Given the description of an element on the screen output the (x, y) to click on. 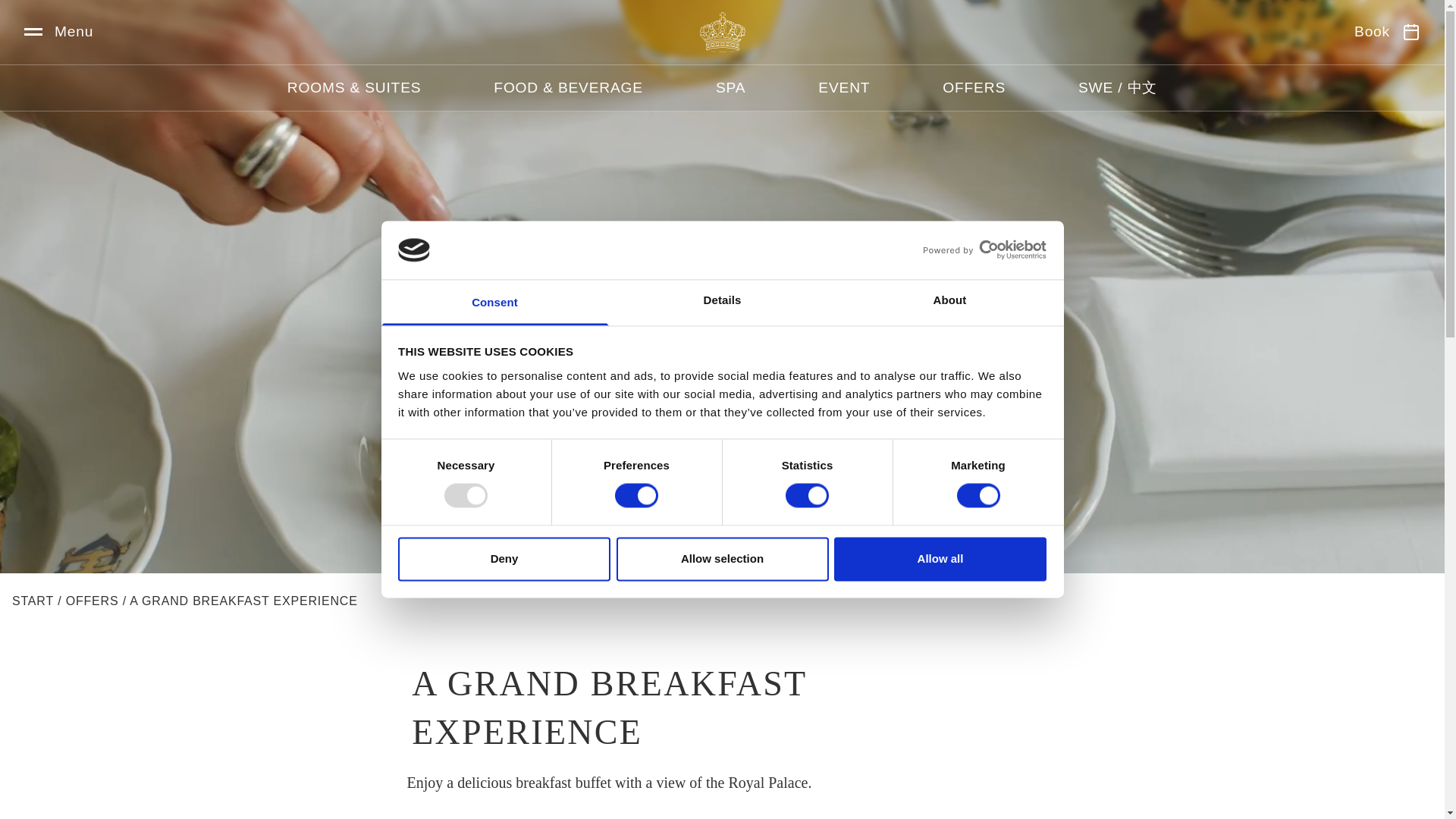
Details (721, 302)
About (948, 302)
Allow all (940, 558)
Consent (494, 302)
Allow selection (721, 558)
Home (721, 32)
Deny (503, 558)
